Given the description of an element on the screen output the (x, y) to click on. 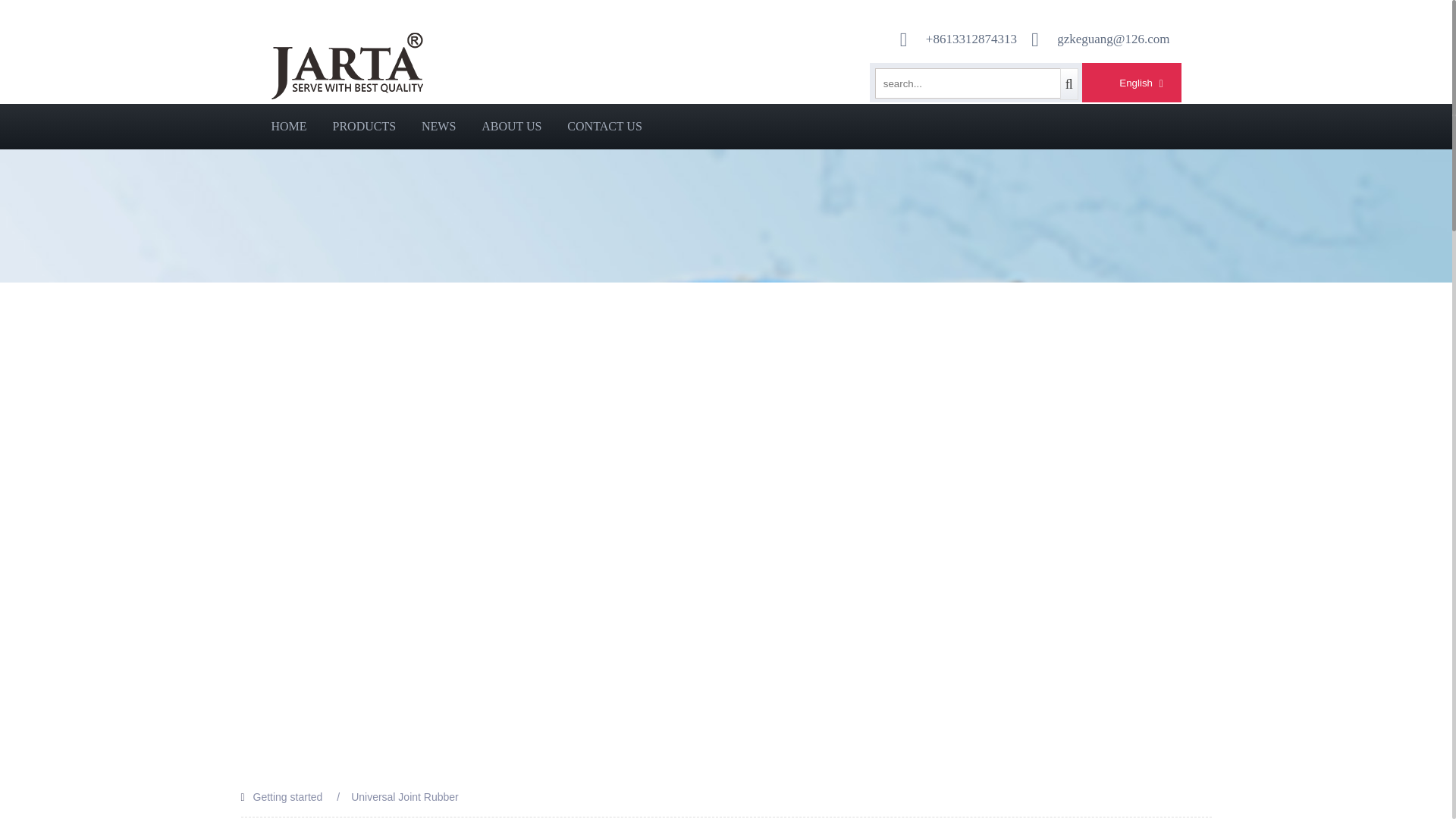
CONTACT US (604, 126)
Universal Joint Rubber (404, 797)
ABOUT US (511, 126)
English (1123, 82)
Getting started (288, 797)
PRODUCTS (363, 126)
